Given the description of an element on the screen output the (x, y) to click on. 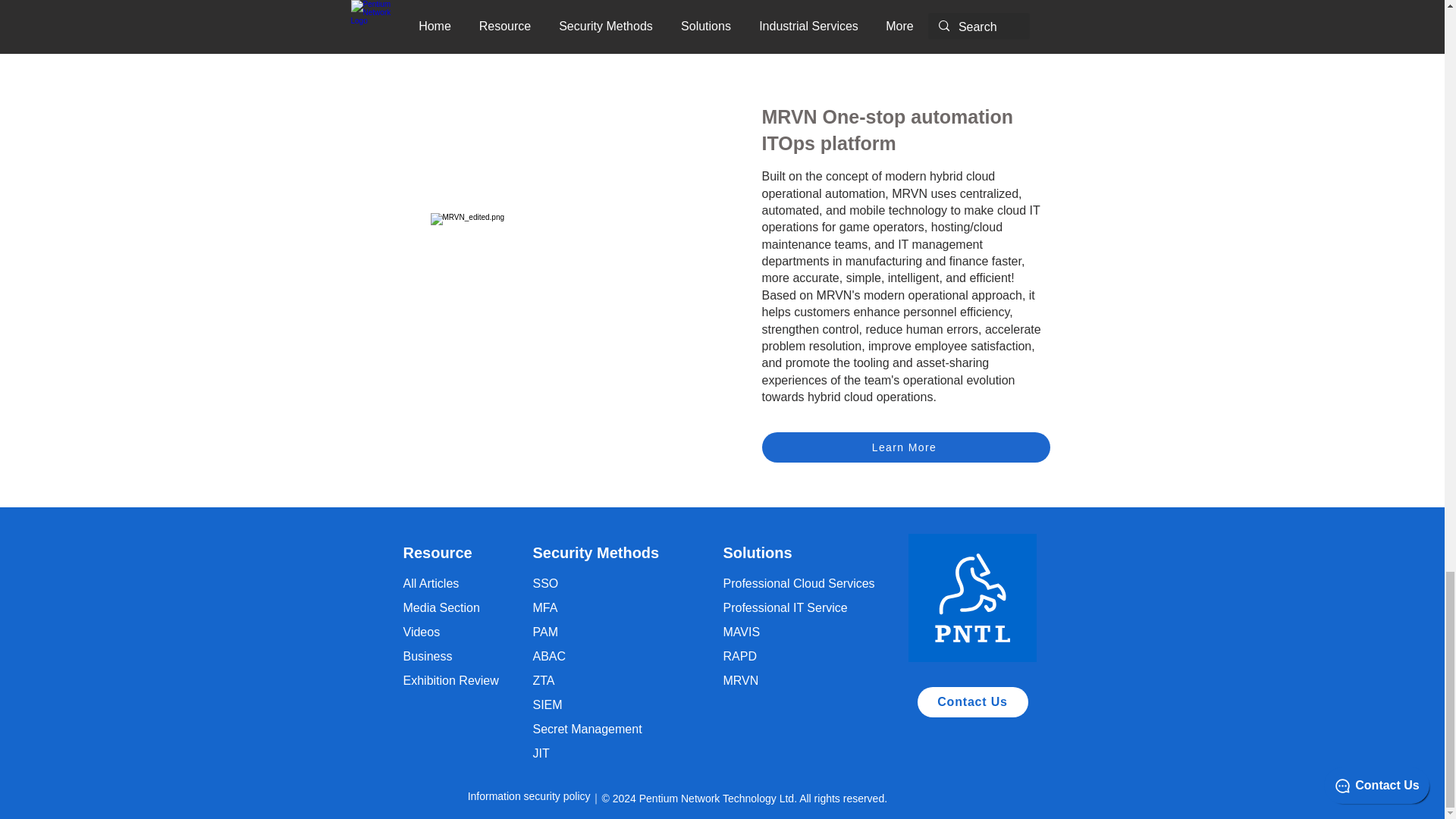
All Articles (431, 583)
Secret Management (587, 728)
Learn More (905, 447)
Videos (422, 631)
SSO (544, 583)
JIT (540, 753)
Learn More (570, 16)
PAM (544, 631)
Business (427, 656)
Media Section (441, 607)
SIEM (547, 704)
ZTA (543, 680)
MFA (544, 607)
ABAC (549, 656)
